Given the description of an element on the screen output the (x, y) to click on. 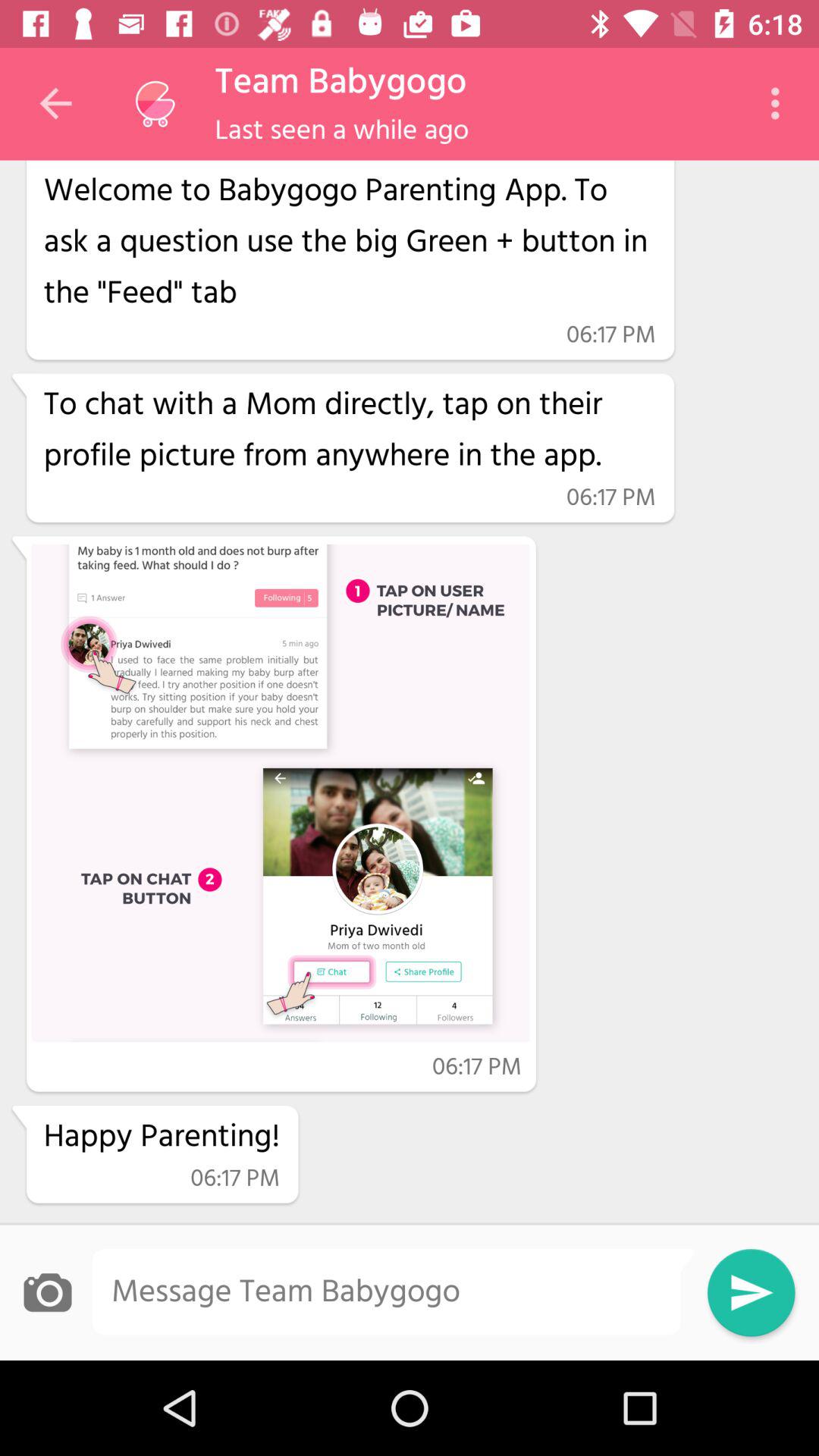
open icon below 06:17 pm icon (349, 430)
